Given the description of an element on the screen output the (x, y) to click on. 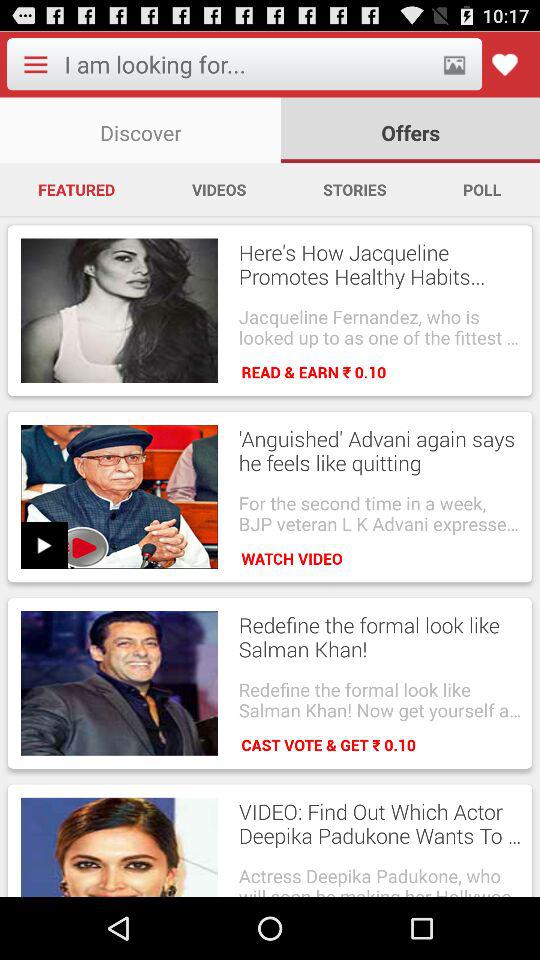
open the application menu (35, 64)
